Given the description of an element on the screen output the (x, y) to click on. 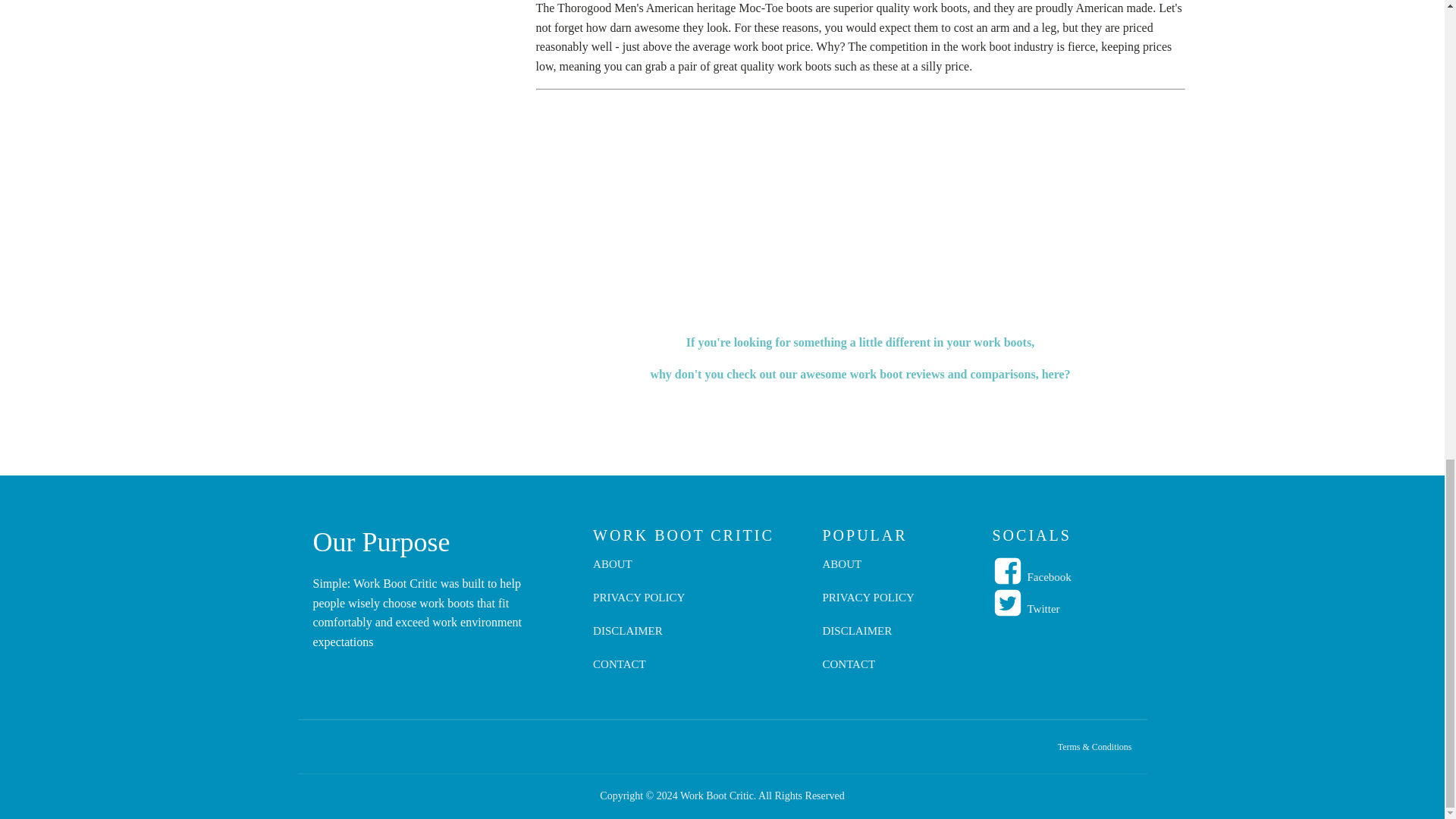
DISCLAIMER (638, 638)
Facebook (1048, 577)
PRIVACY POLICY (638, 604)
CONTACT (638, 671)
Twitter (1042, 608)
DISCLAIMER (868, 638)
ABOUT (638, 571)
CONTACT (868, 671)
